Given the description of an element on the screen output the (x, y) to click on. 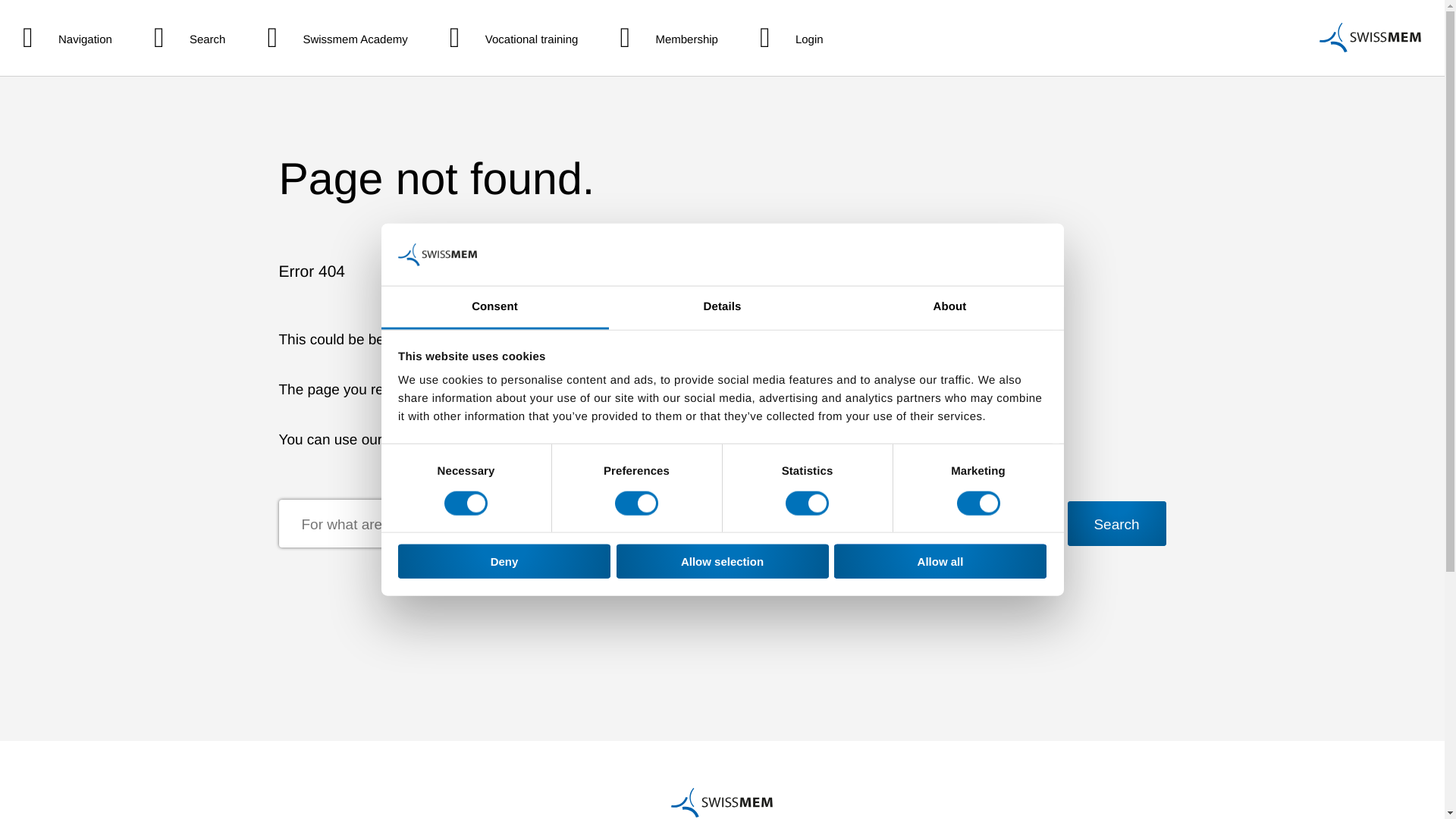
Deny (503, 561)
Vocational training (513, 38)
Consent (494, 308)
Search (189, 38)
Allow selection (721, 561)
Search (189, 38)
About (948, 308)
Allow all (940, 561)
Swissmem Academy (336, 38)
Swissmem Academy (336, 38)
Details (721, 308)
Navigation (67, 38)
Navigation (67, 38)
Membership (668, 38)
Login (792, 38)
